Given the description of an element on the screen output the (x, y) to click on. 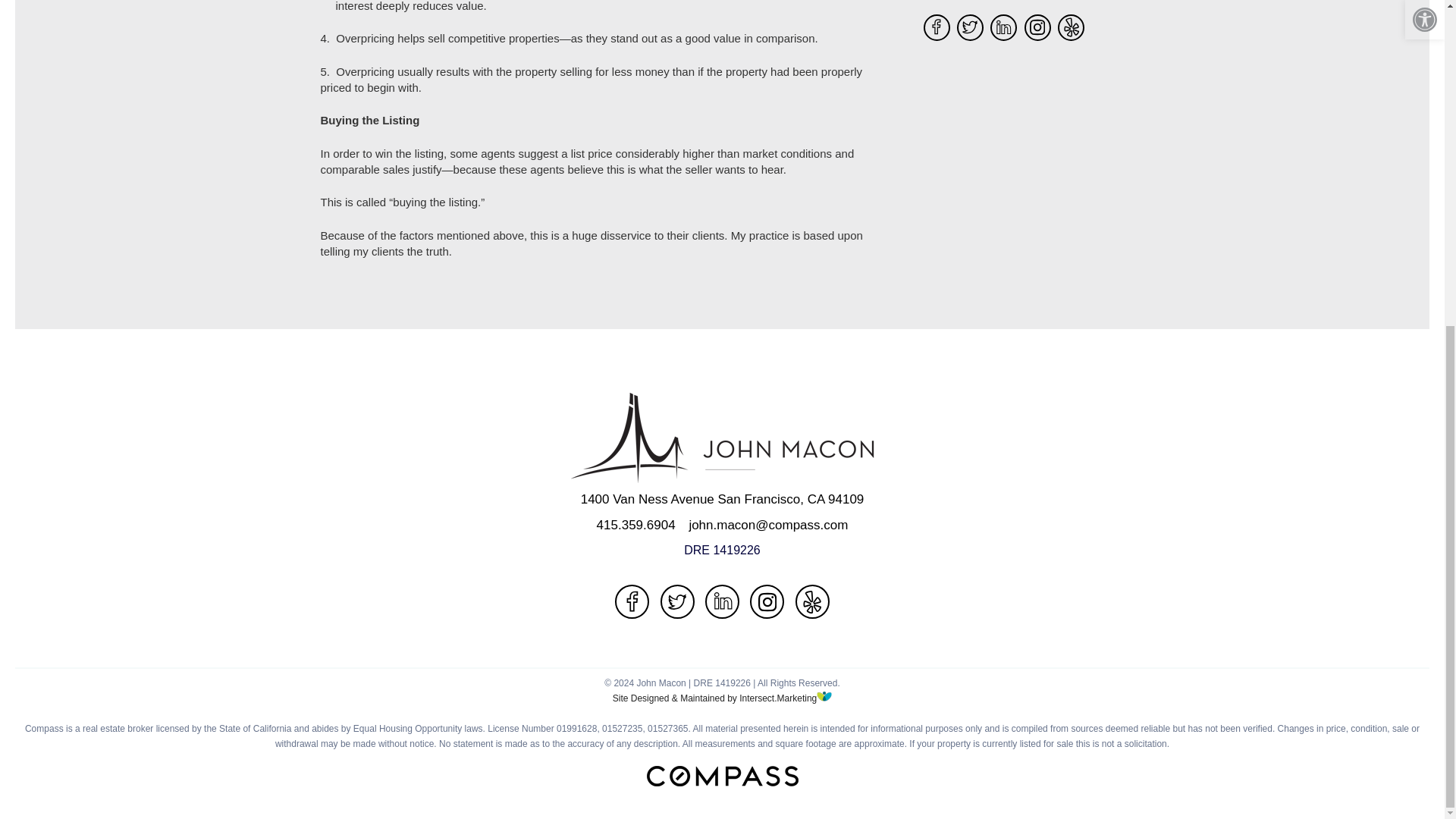
415.359.6904 (635, 524)
Facebook (631, 601)
1400 Van Ness Avenue San Francisco, CA 94109 (722, 499)
